Given the description of an element on the screen output the (x, y) to click on. 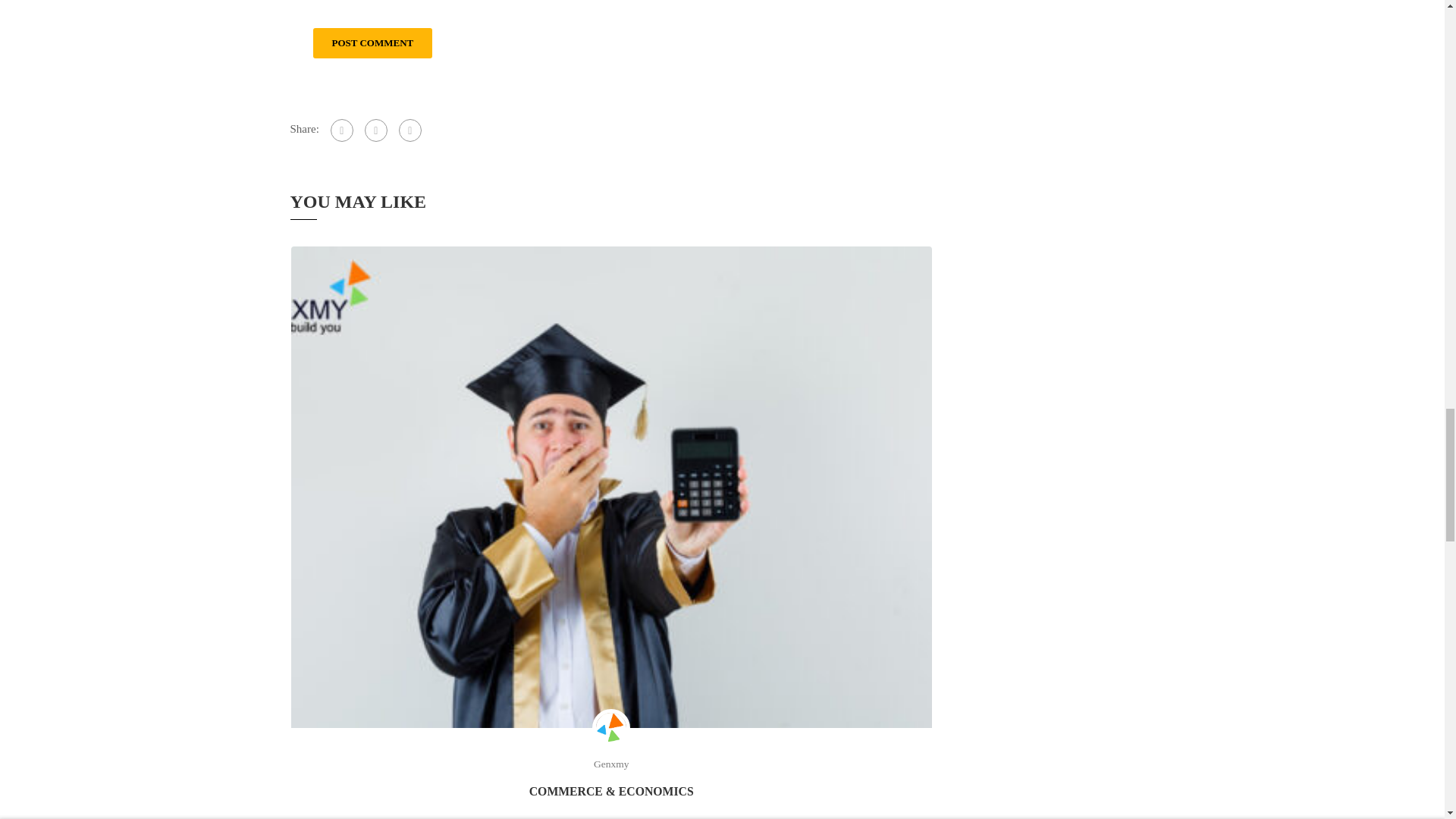
Facebook (341, 129)
Pinterest (410, 129)
Twitter (376, 129)
Post Comment (372, 42)
Post Comment (372, 42)
